Given the description of an element on the screen output the (x, y) to click on. 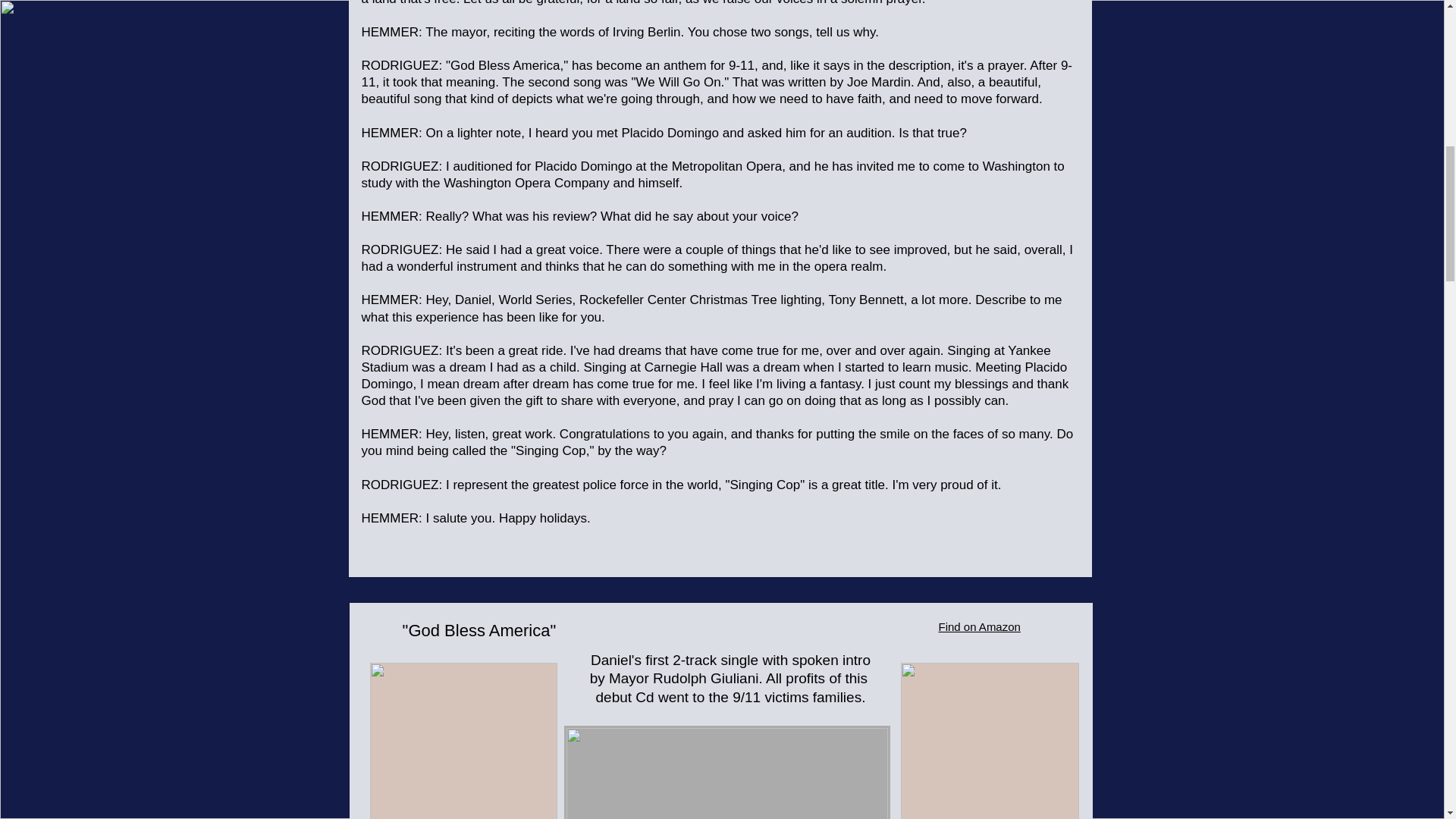
Find on Amazon (979, 626)
